Given the description of an element on the screen output the (x, y) to click on. 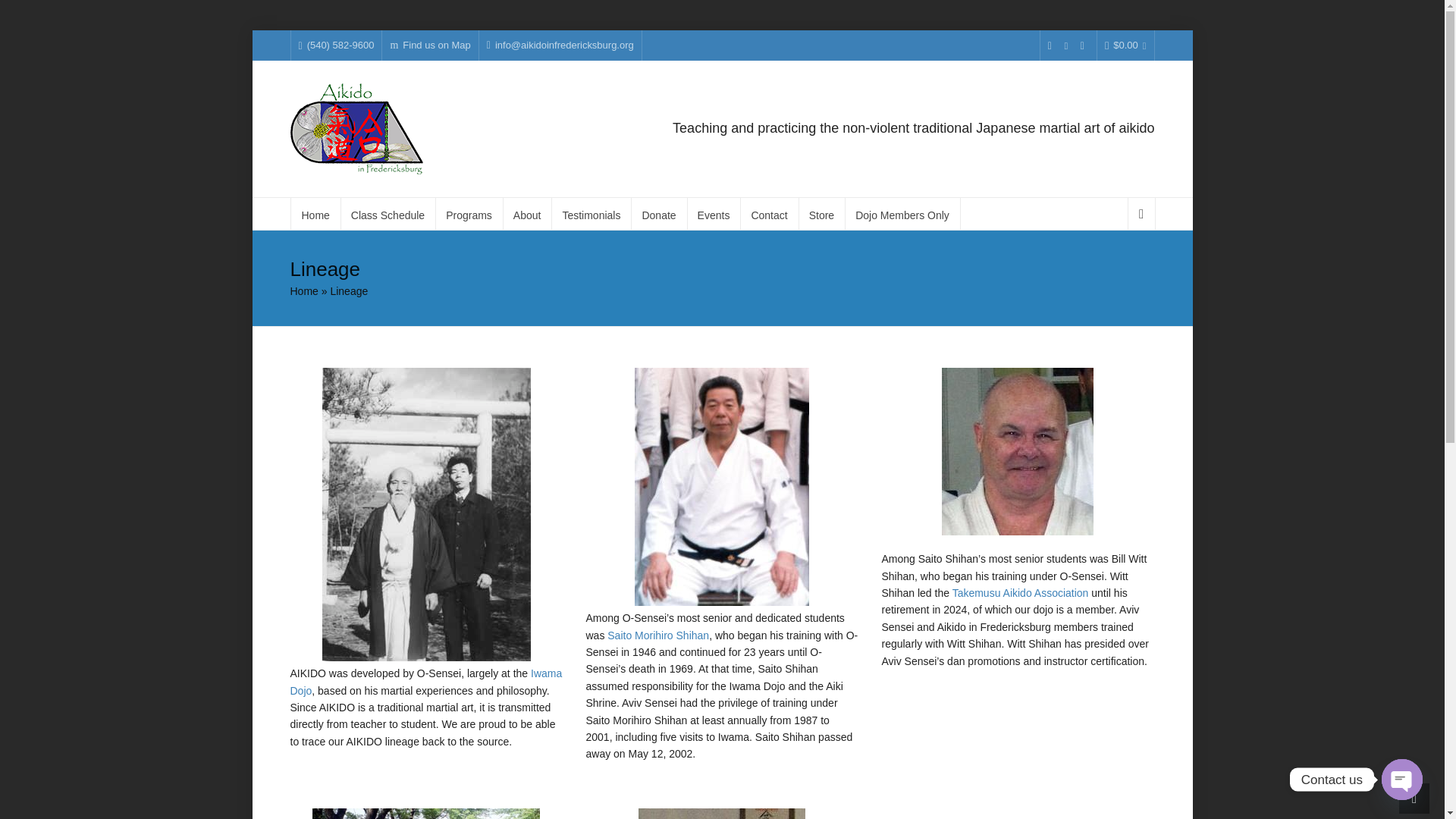
Find us on Map (430, 45)
